Given the description of an element on the screen output the (x, y) to click on. 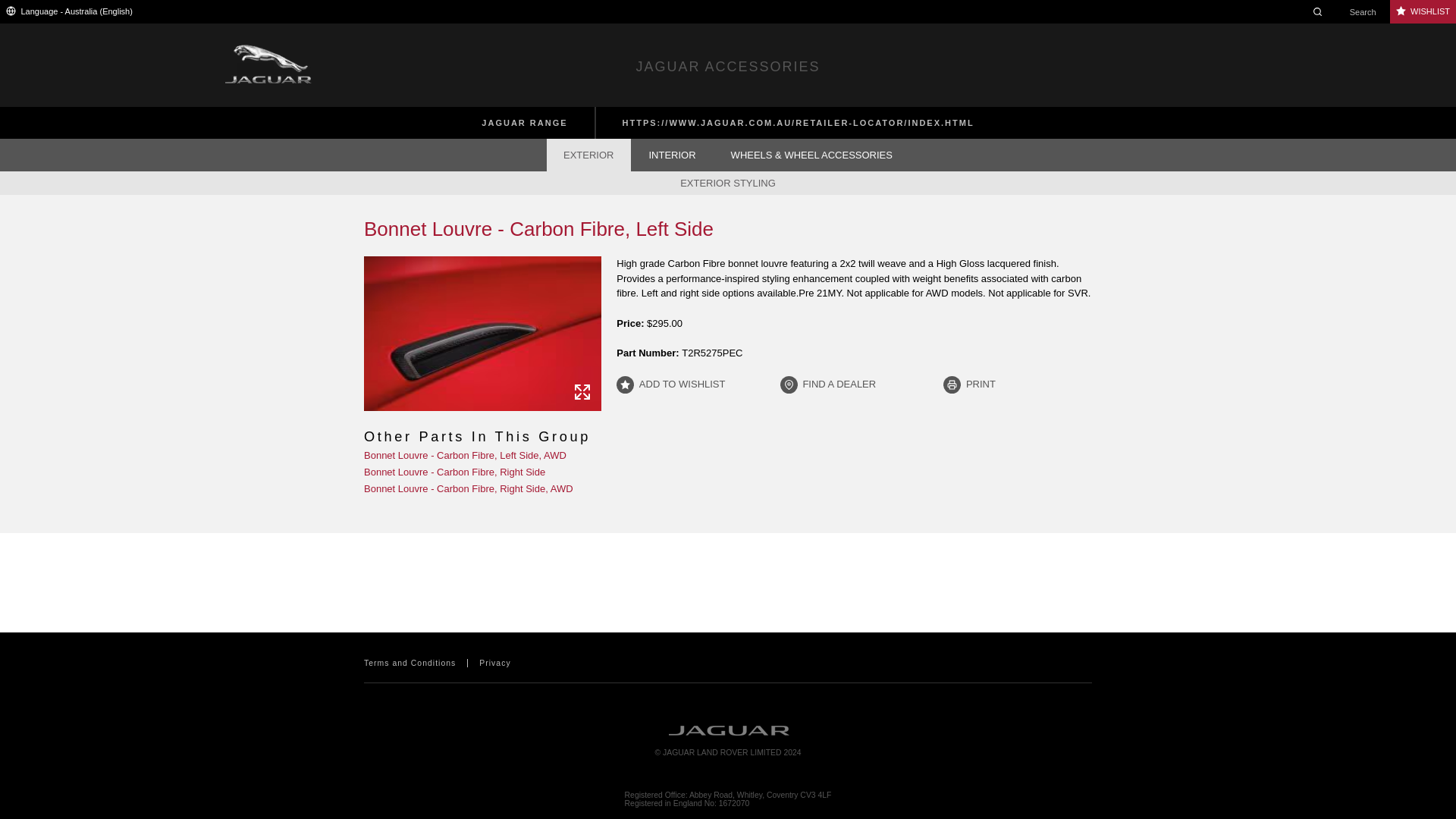
JAGUAR RANGE (524, 122)
